Given the description of an element on the screen output the (x, y) to click on. 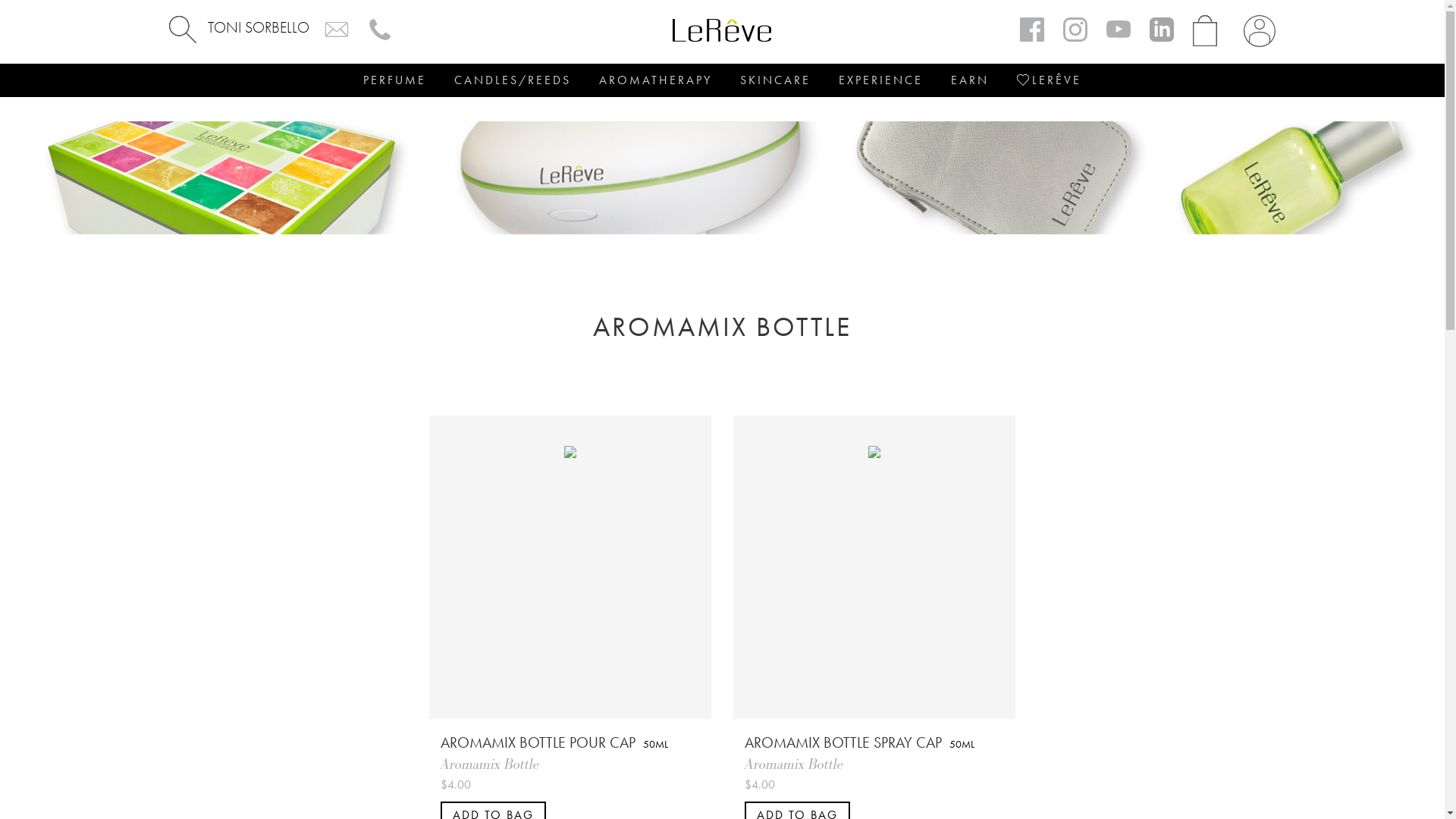
EARN Element type: text (969, 79)
AROMAMIX BOTTLE SPRAY CAP Element type: text (842, 742)
EXPERIENCE Element type: text (880, 79)
AROMAMIX BOTTLE POUR CAP Element type: text (537, 742)
